Given the description of an element on the screen output the (x, y) to click on. 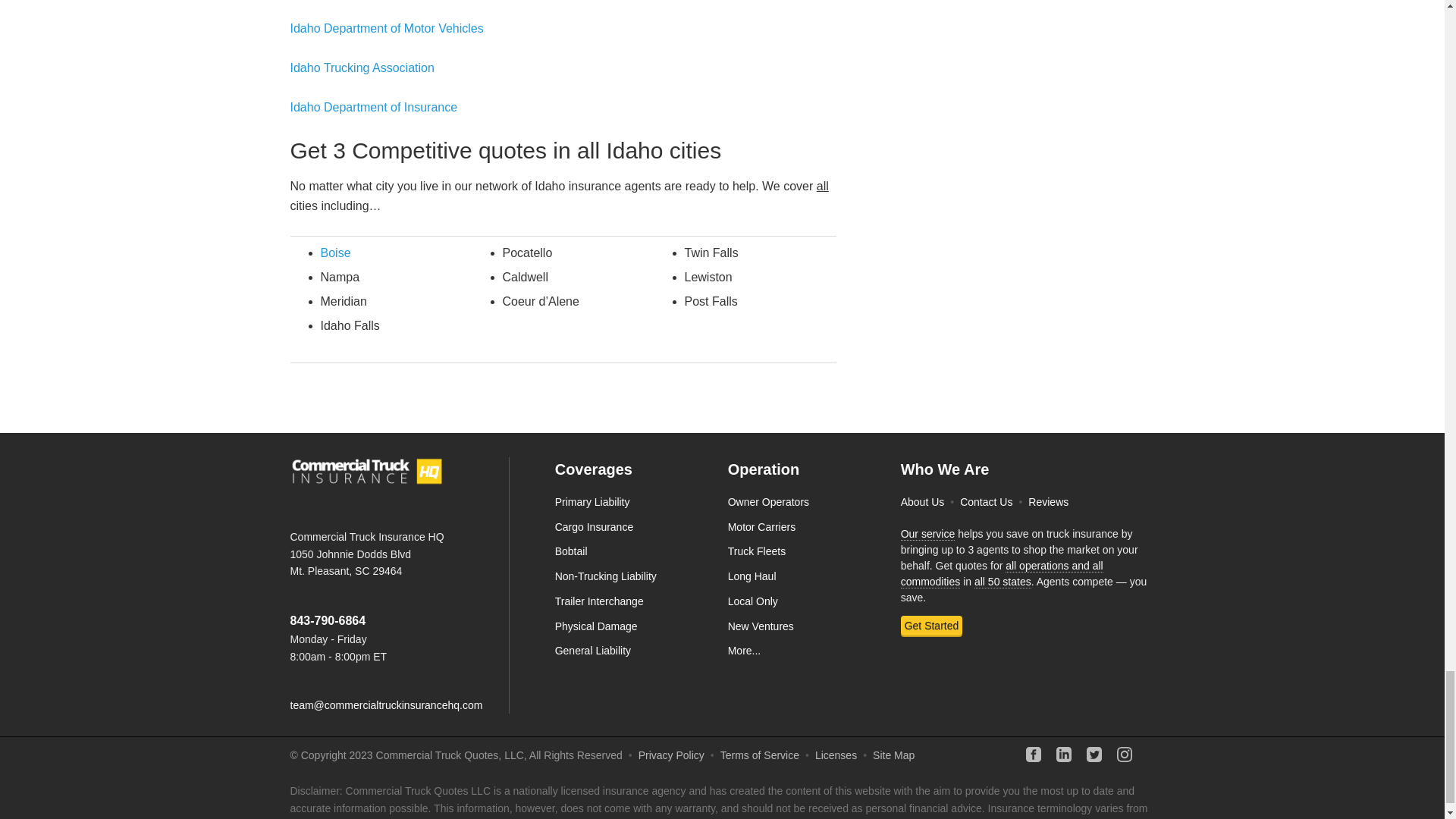
Idaho Trucking Association (361, 67)
Idaho Department of Motor Vehicles (386, 28)
